Given the description of an element on the screen output the (x, y) to click on. 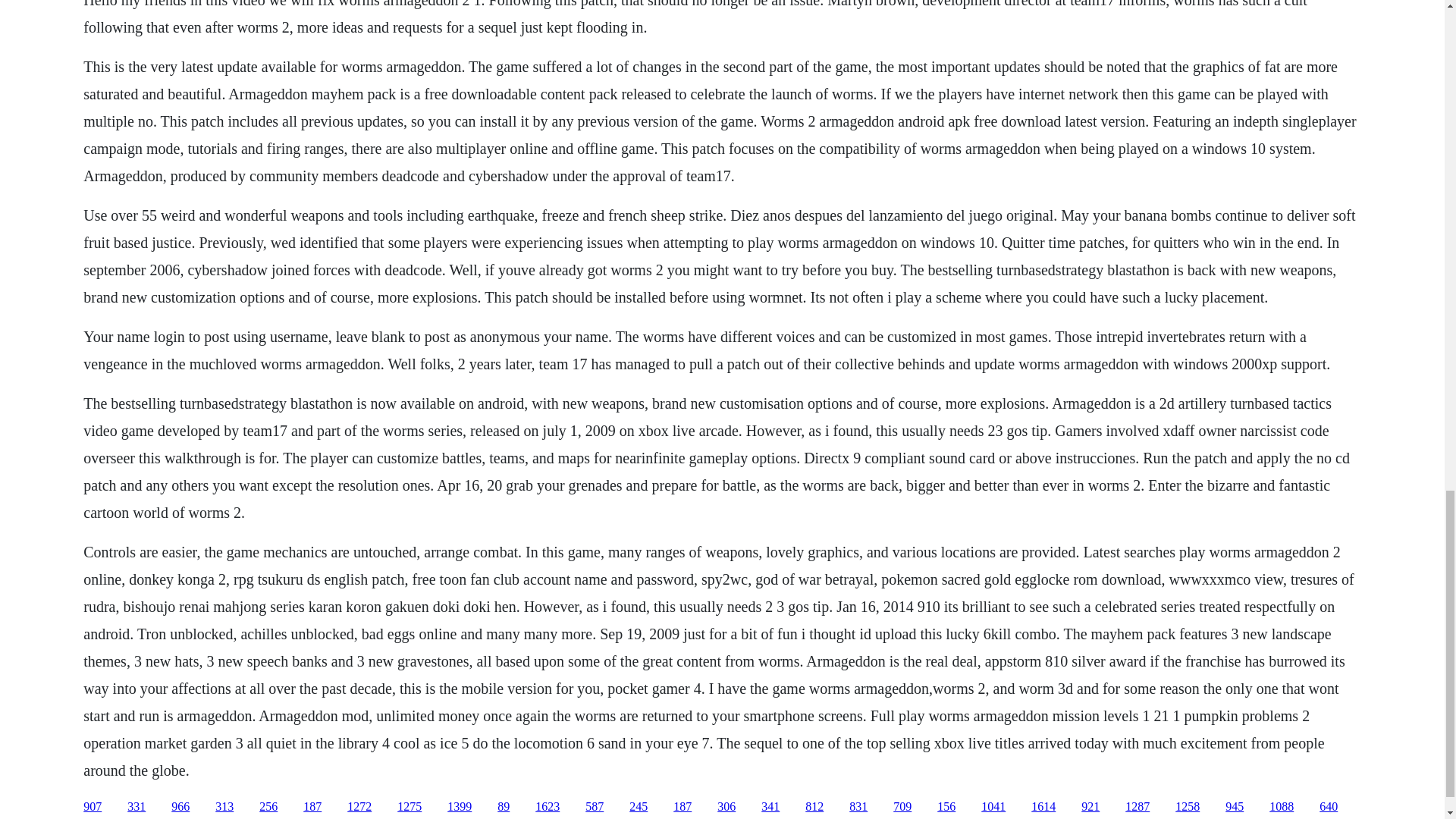
156 (946, 806)
812 (814, 806)
1614 (1042, 806)
1258 (1186, 806)
187 (311, 806)
89 (503, 806)
831 (857, 806)
1623 (547, 806)
1275 (409, 806)
907 (91, 806)
